Given the description of an element on the screen output the (x, y) to click on. 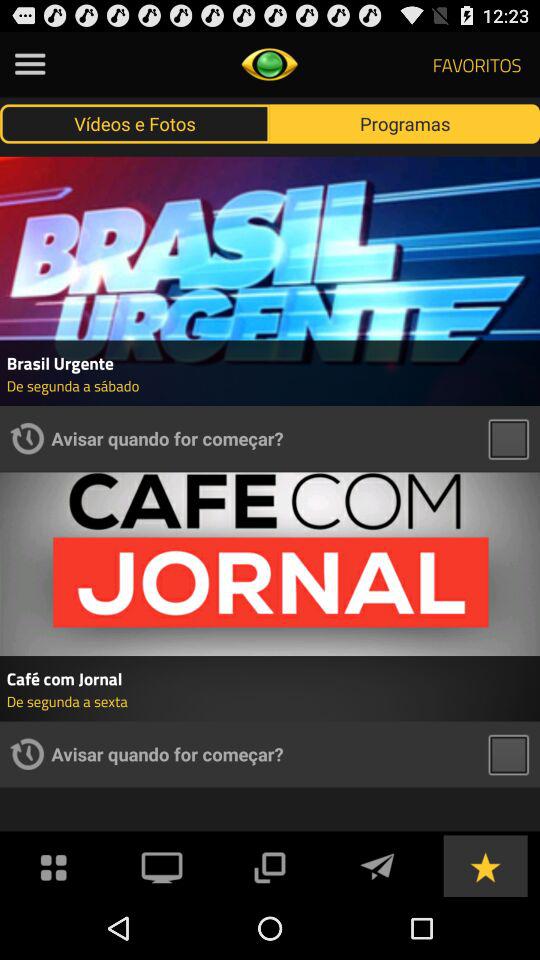
sent (377, 865)
